Given the description of an element on the screen output the (x, y) to click on. 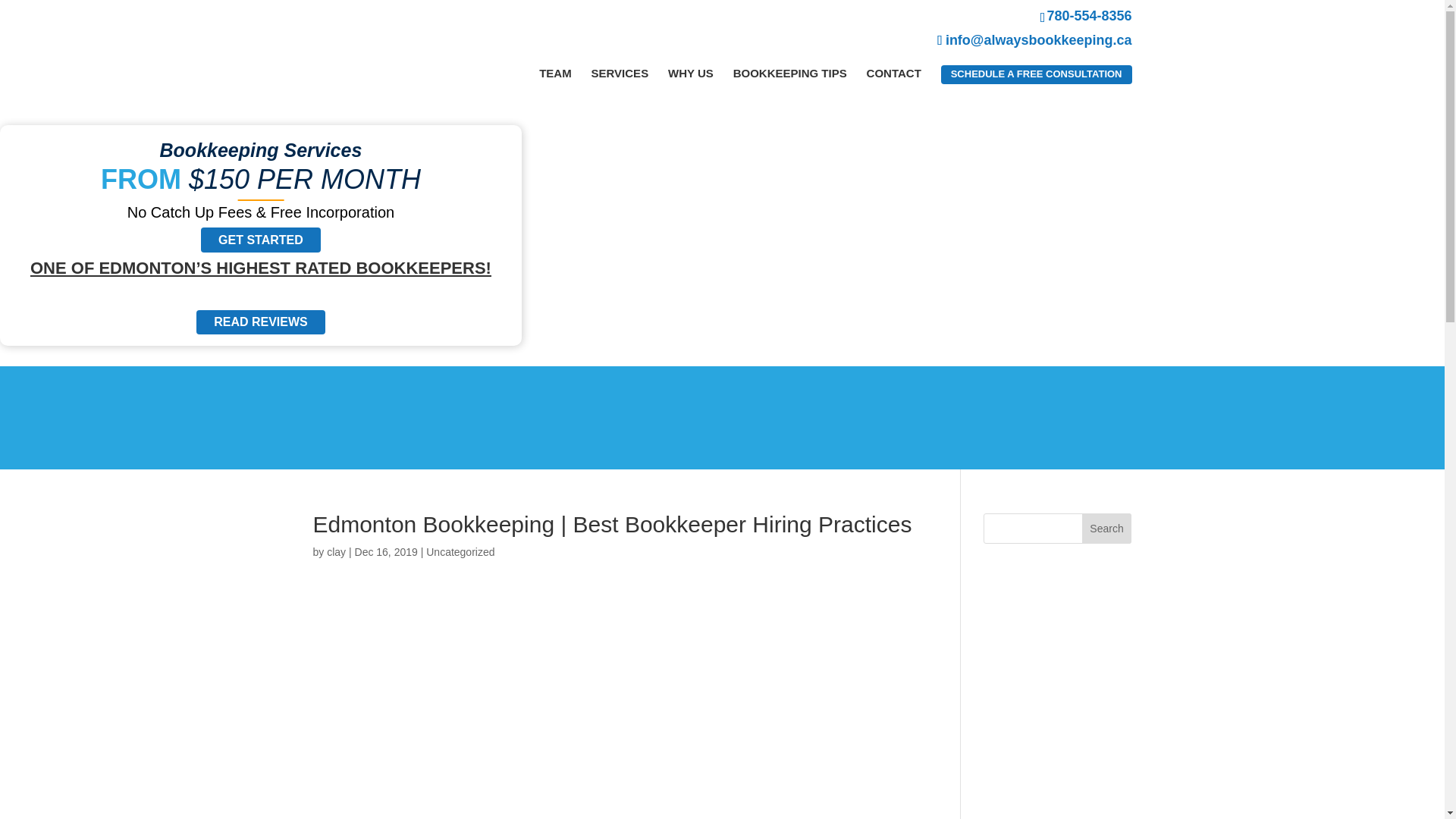
BOOKKEEPING TIPS (790, 72)
TEAM (555, 72)
SERVICES (620, 72)
SCHEDULE A FREE CONSULTATION (1036, 74)
READ REVIEWS (260, 322)
Search (1106, 528)
Search (1106, 528)
WHY US (690, 72)
Posts by clay (336, 551)
780-554-8356 (885, 15)
GET STARTED (260, 239)
CONTACT (893, 72)
clay (336, 551)
